Given the description of an element on the screen output the (x, y) to click on. 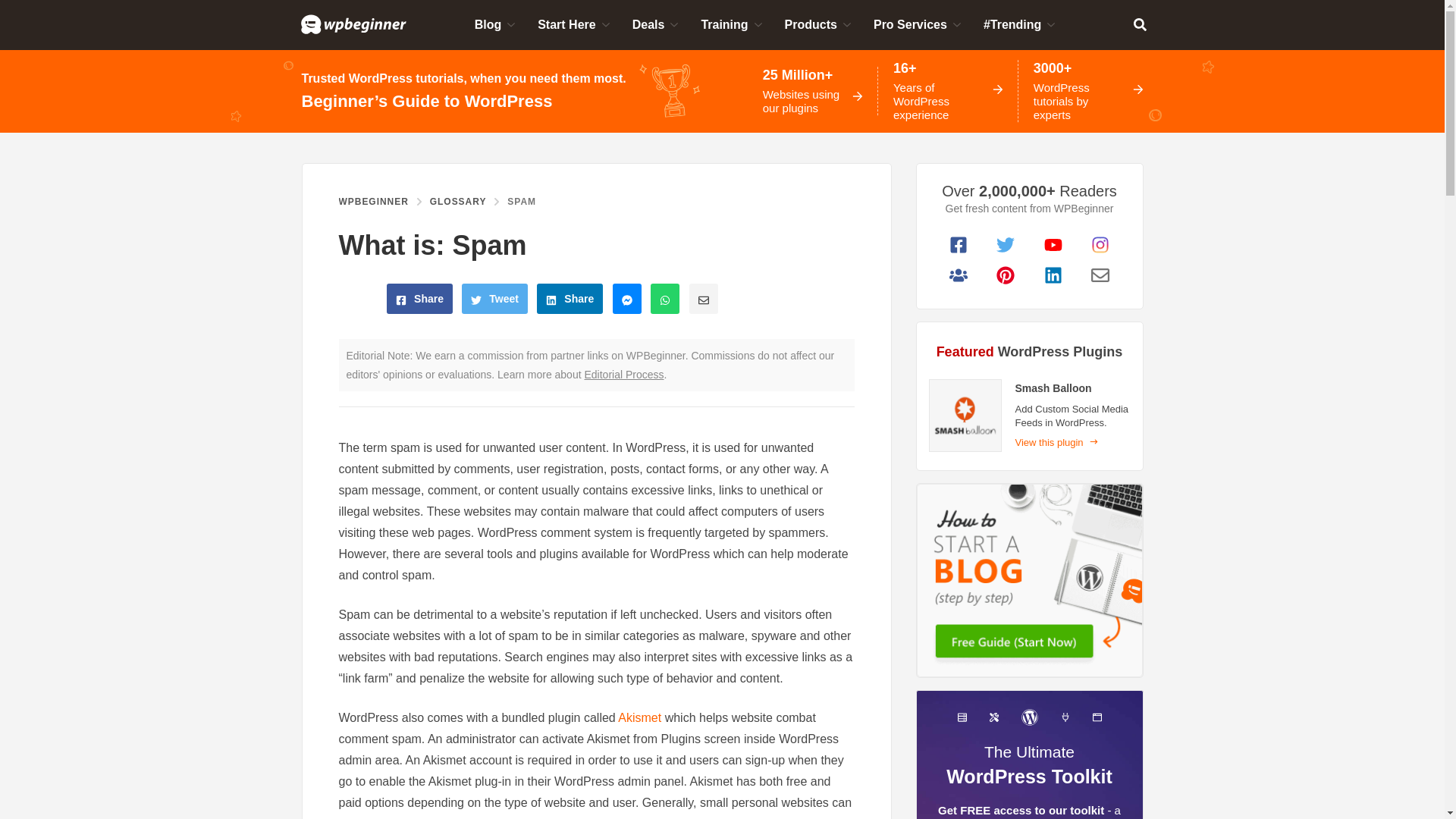
Deals (654, 24)
Blog (494, 24)
WPBeginner - Beginners Guide for WordPress (353, 24)
WPBeginner - WordPress Tutorials for Beginners (353, 24)
Start Here (572, 24)
